Given the description of an element on the screen output the (x, y) to click on. 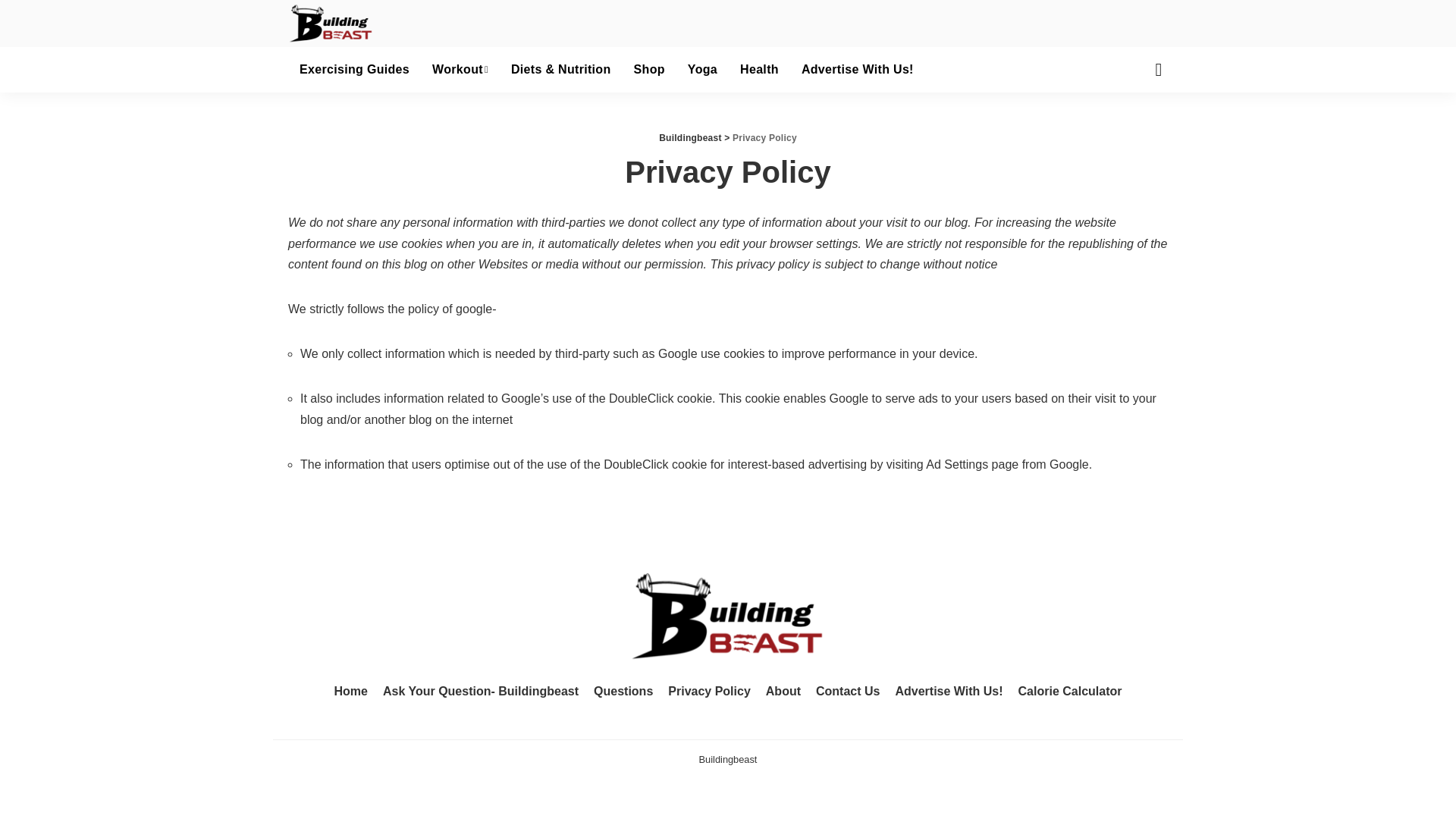
Go to Buildingbeast. (689, 137)
Advertise With Us! (857, 69)
Yoga (703, 69)
Exercising Guides (354, 69)
Buildingbeast (331, 23)
Shop (650, 69)
Workout (459, 69)
Health (759, 69)
